Given the description of an element on the screen output the (x, y) to click on. 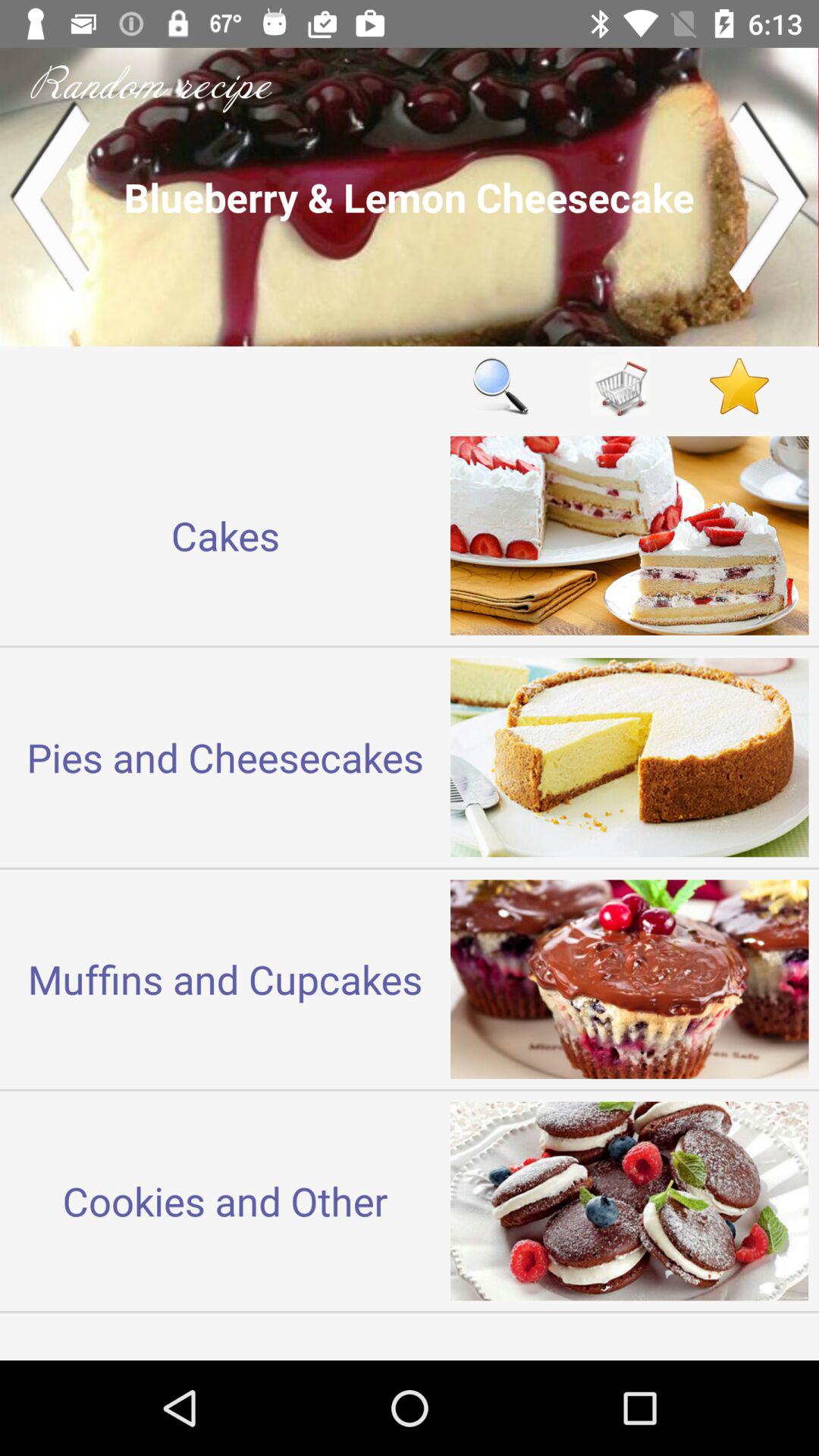
shopping list (619, 385)
